Given the description of an element on the screen output the (x, y) to click on. 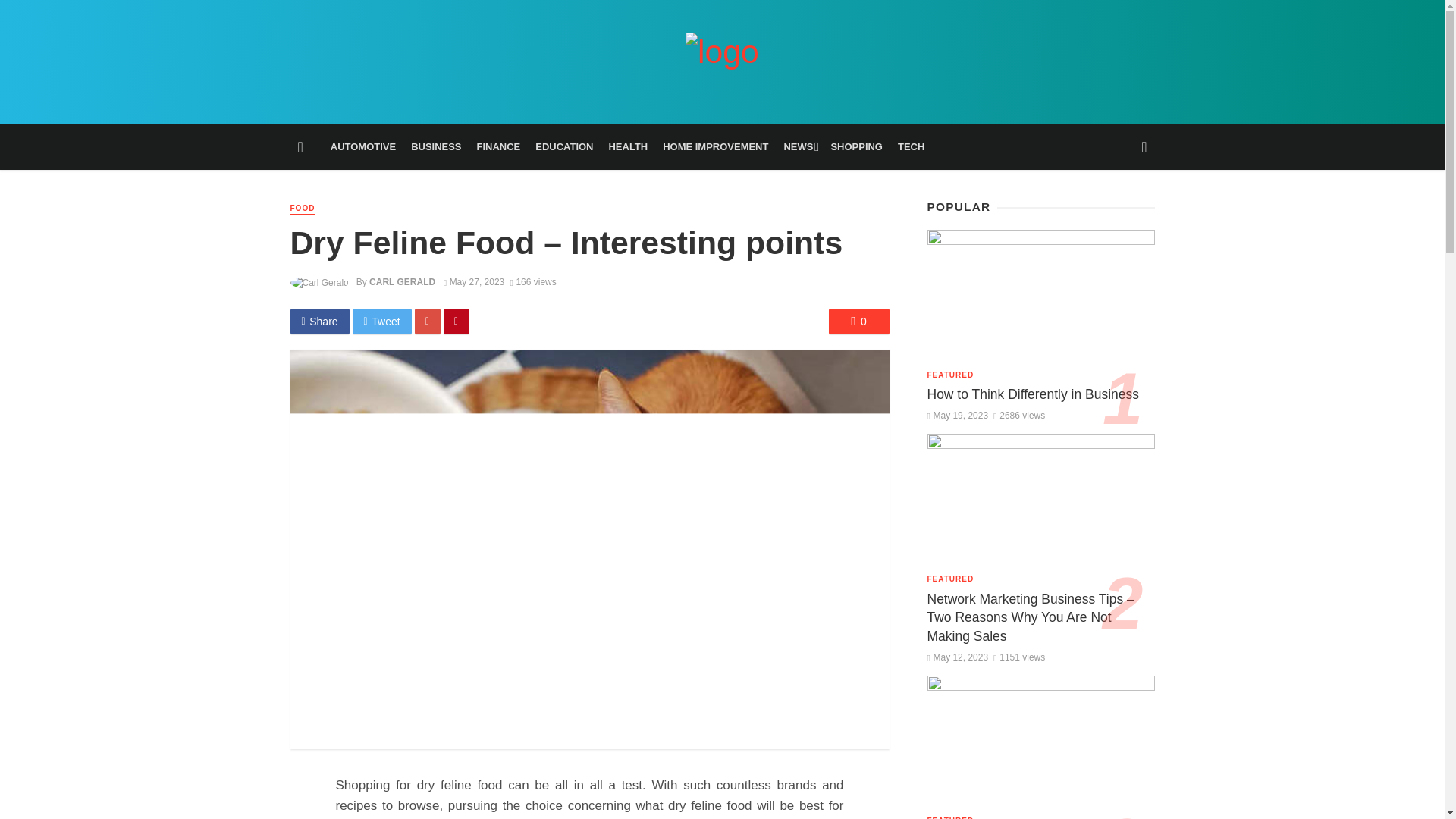
Share on Pinterest (456, 321)
NEWS (799, 146)
HEALTH (627, 146)
Tweet (382, 321)
SHOPPING (855, 146)
AUTOMOTIVE (363, 146)
Posts by Carl Gerald (402, 281)
EDUCATION (563, 146)
TECH (910, 146)
Share on Twitter (382, 321)
May 27, 2023 at 8:28 am (474, 281)
CARL GERALD (402, 281)
0 Comments (858, 321)
FINANCE (498, 146)
Share (319, 321)
